Given the description of an element on the screen output the (x, y) to click on. 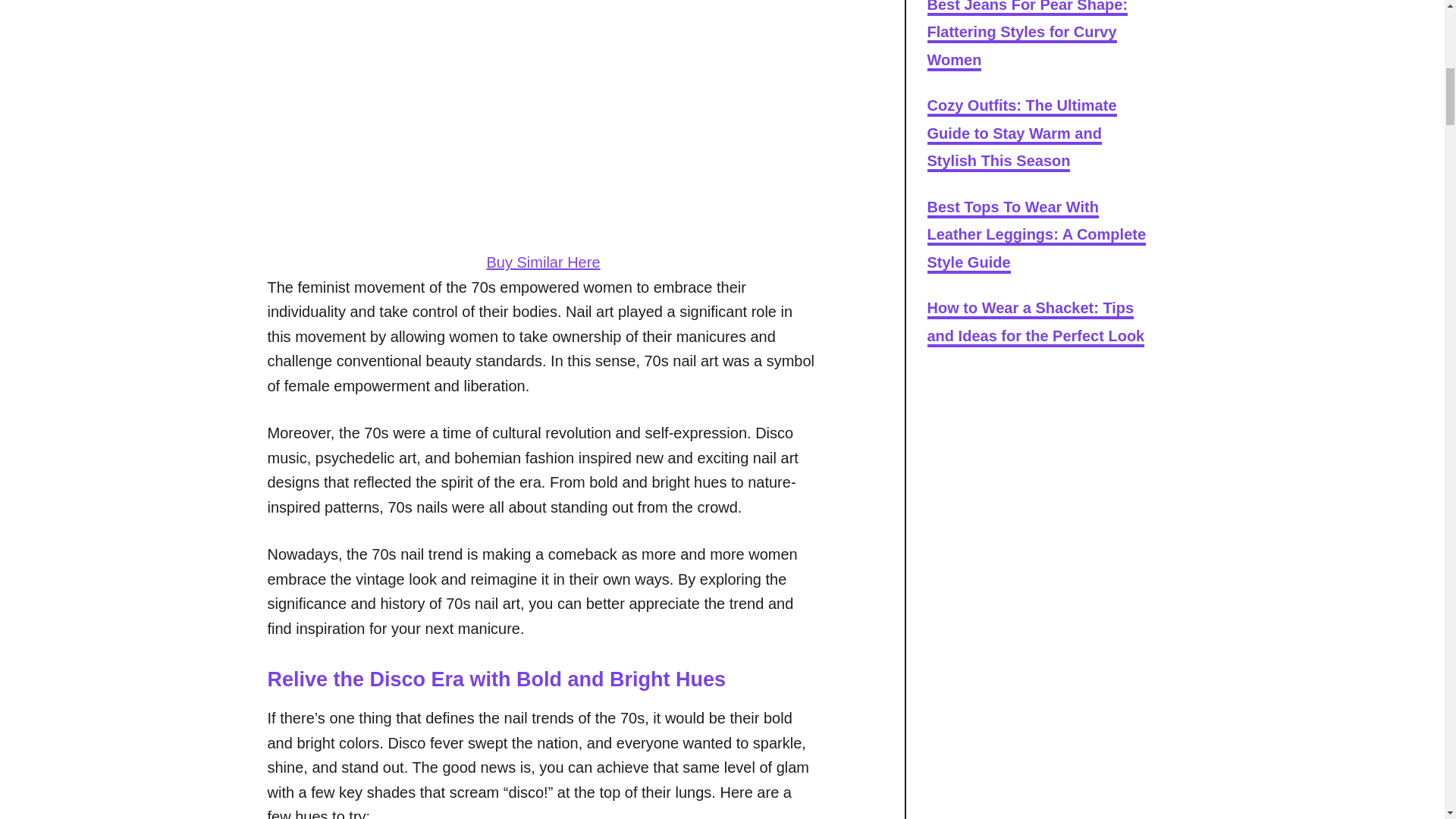
How to Wear a Shacket: Tips and Ideas for the Perfect Look (1035, 323)
Best Jeans For Pear Shape: Flattering Styles for Curvy Women (1026, 35)
Buy Similar Here (542, 262)
